Given the description of an element on the screen output the (x, y) to click on. 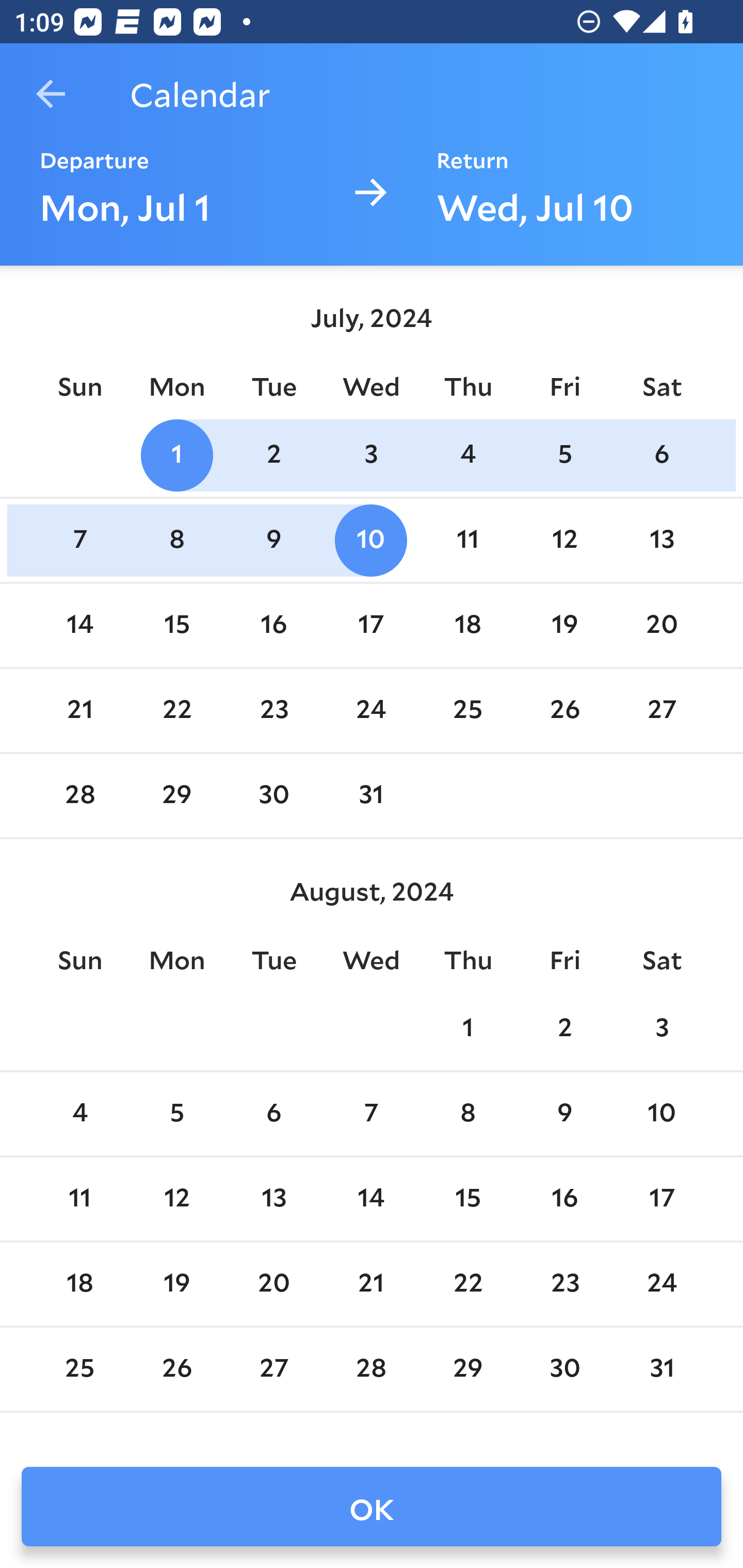
Navigate up (50, 93)
1 (177, 454)
2 (273, 454)
3 (371, 454)
4 (467, 454)
5 (565, 454)
6 (661, 454)
7 (79, 540)
8 (177, 540)
9 (273, 540)
10 (371, 540)
11 (467, 540)
12 (565, 540)
13 (661, 540)
14 (79, 625)
15 (177, 625)
16 (273, 625)
17 (371, 625)
18 (467, 625)
19 (565, 625)
20 (661, 625)
21 (79, 710)
22 (177, 710)
23 (273, 710)
24 (371, 710)
25 (467, 710)
26 (565, 710)
27 (661, 710)
28 (79, 796)
29 (177, 796)
30 (273, 796)
31 (371, 796)
1 (467, 1028)
2 (565, 1028)
3 (661, 1028)
4 (79, 1114)
5 (177, 1114)
6 (273, 1114)
7 (371, 1114)
8 (467, 1114)
9 (565, 1114)
10 (661, 1114)
11 (79, 1199)
12 (177, 1199)
13 (273, 1199)
14 (371, 1199)
15 (467, 1199)
16 (565, 1199)
17 (661, 1199)
18 (79, 1284)
19 (177, 1284)
20 (273, 1284)
21 (371, 1284)
22 (467, 1284)
23 (565, 1284)
24 (661, 1284)
25 (79, 1368)
26 (177, 1368)
27 (273, 1368)
28 (371, 1368)
29 (467, 1368)
30 (565, 1368)
31 (661, 1368)
OK (371, 1506)
